Given the description of an element on the screen output the (x, y) to click on. 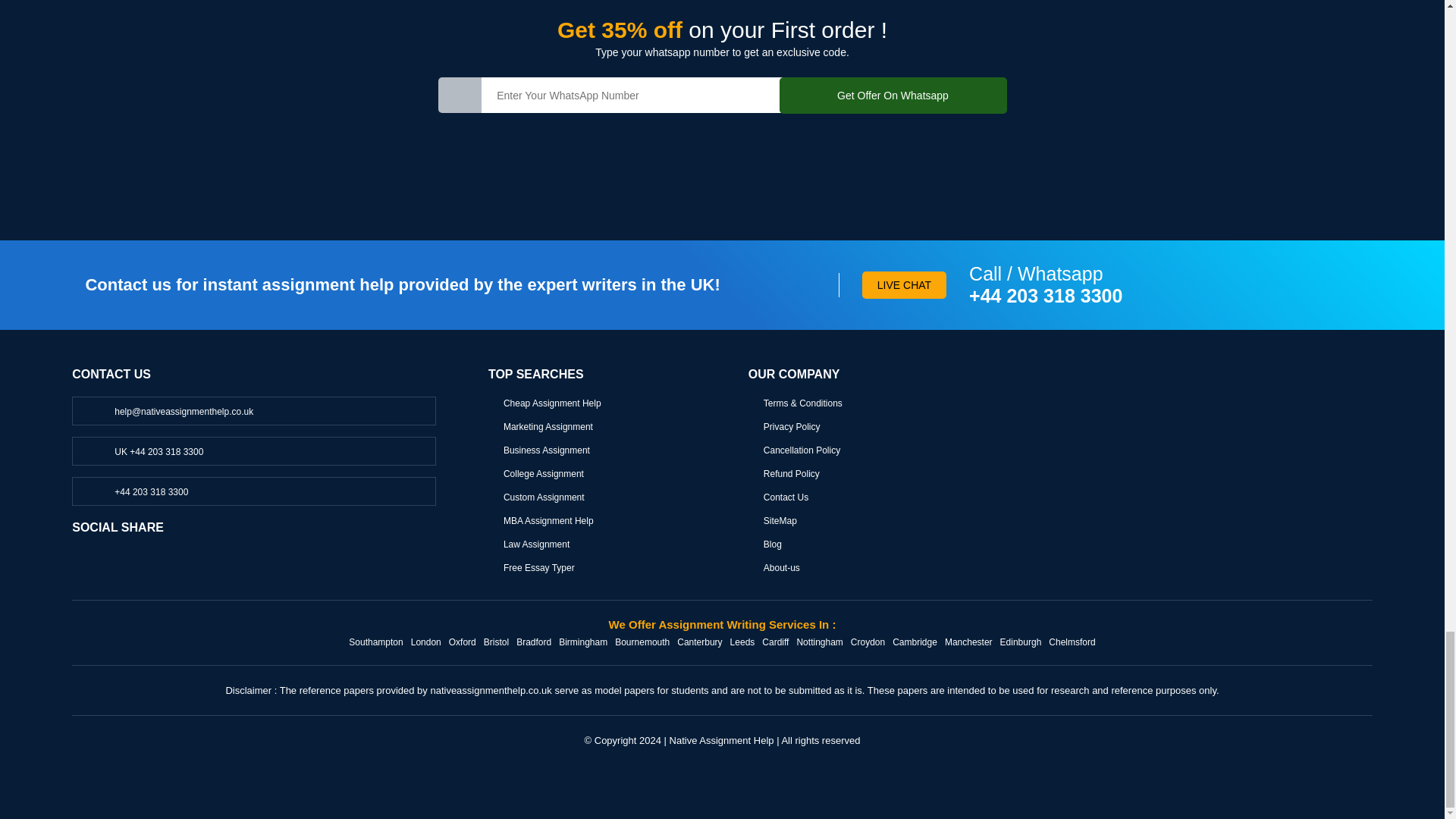
Live Chat on WhatsApp (135, 491)
